Given the description of an element on the screen output the (x, y) to click on. 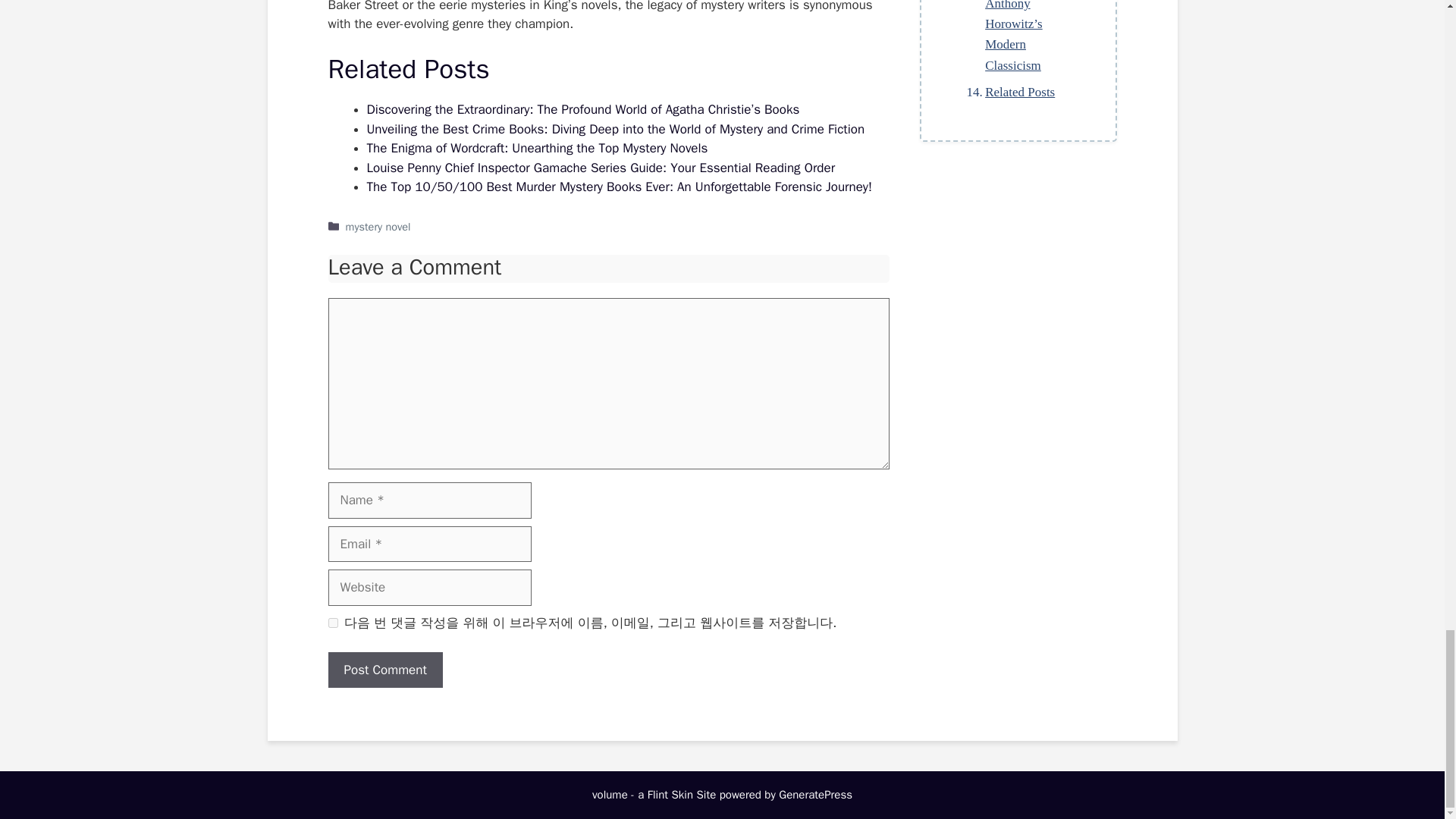
The Enigma of Wordcraft: Unearthing the Top Mystery Novels (536, 148)
yes (332, 623)
mystery novel (378, 226)
Post Comment (384, 669)
Post Comment (384, 669)
